Given the description of an element on the screen output the (x, y) to click on. 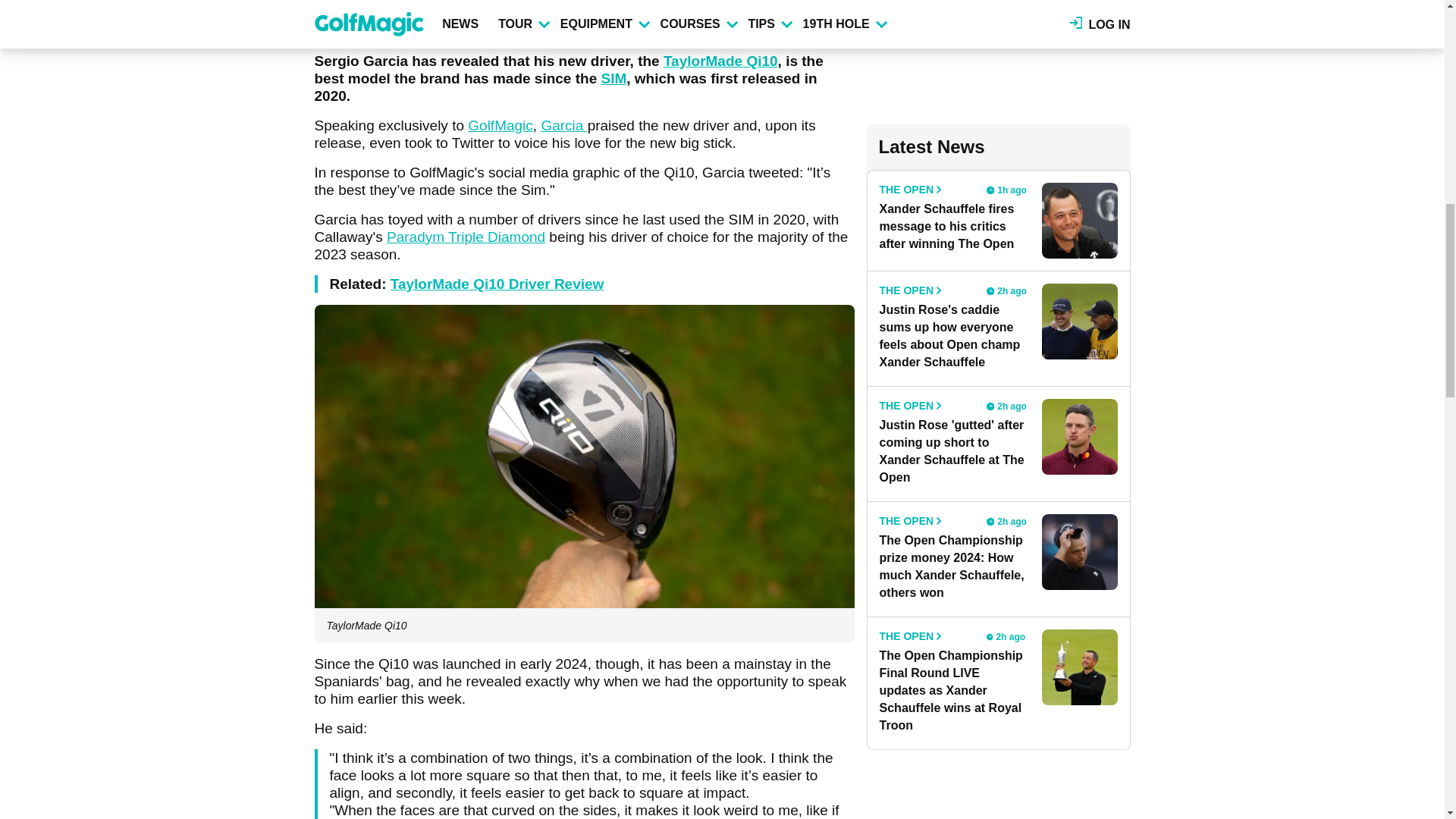
3rd party ad content (998, 49)
Live Now (979, 636)
